Given the description of an element on the screen output the (x, y) to click on. 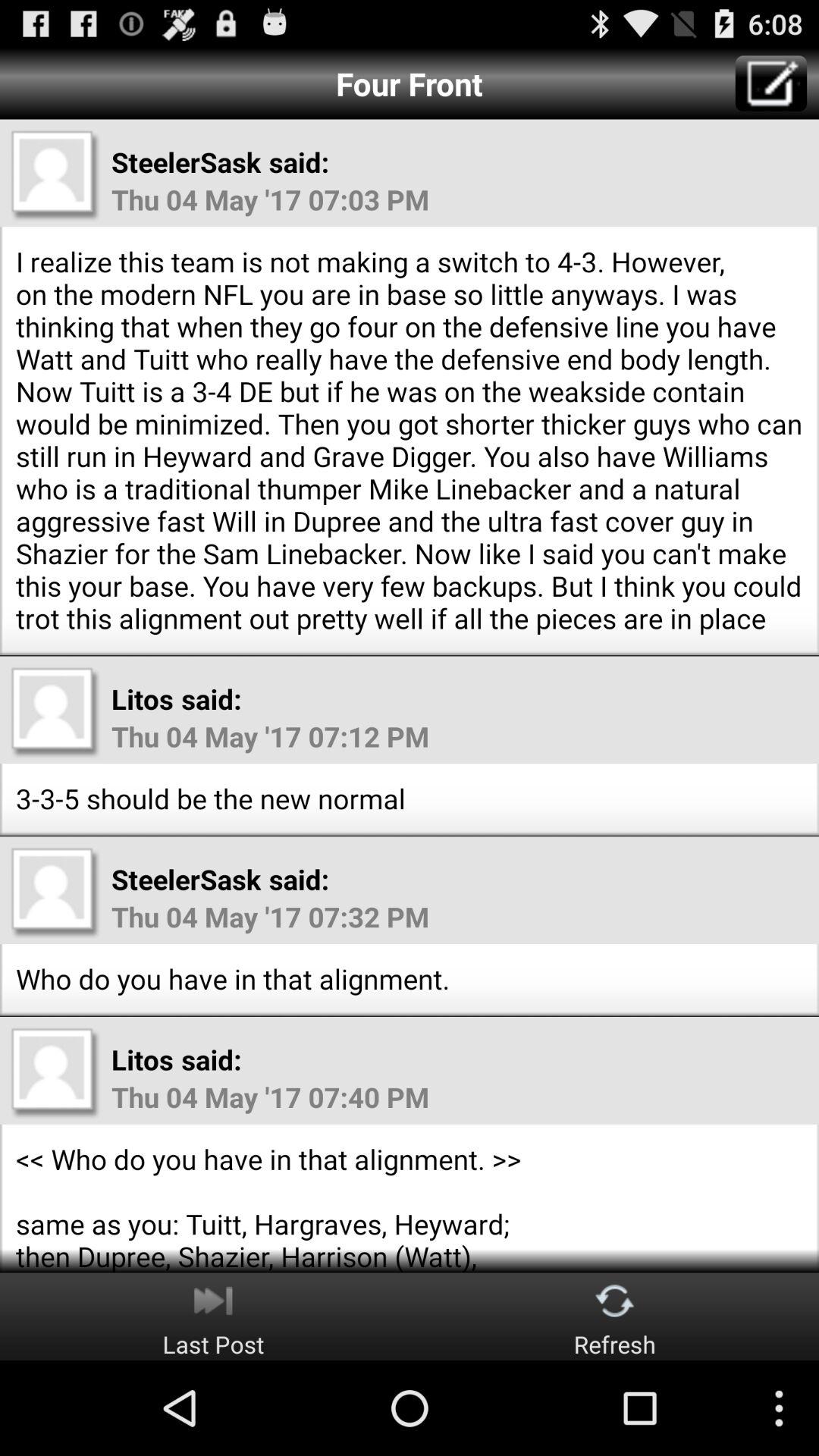
view picture (55, 892)
